Given the description of an element on the screen output the (x, y) to click on. 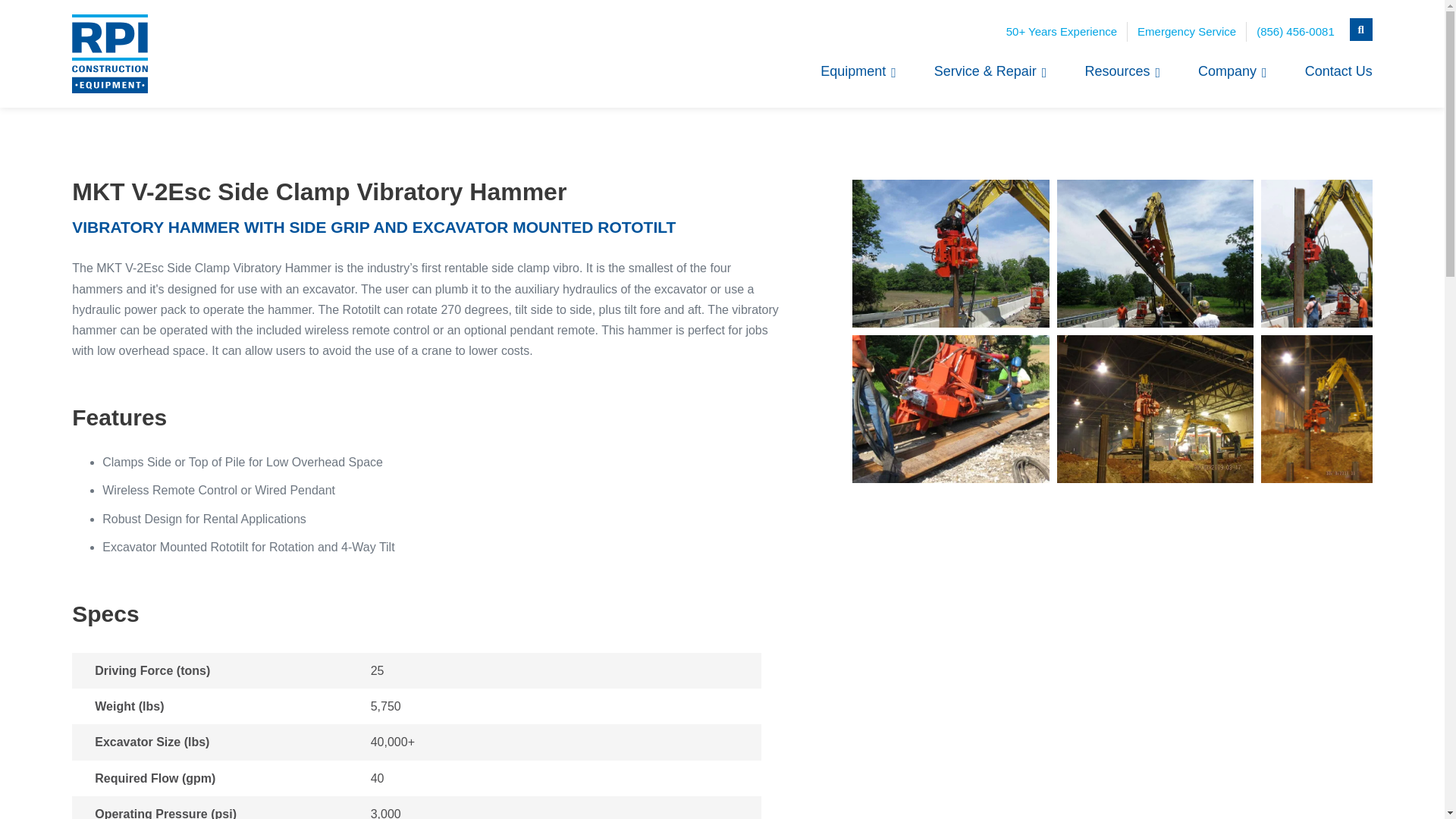
Equipment (858, 70)
Contact Us (1338, 70)
Resources (1122, 70)
Company (1232, 70)
Emergency Service (1186, 31)
